Given the description of an element on the screen output the (x, y) to click on. 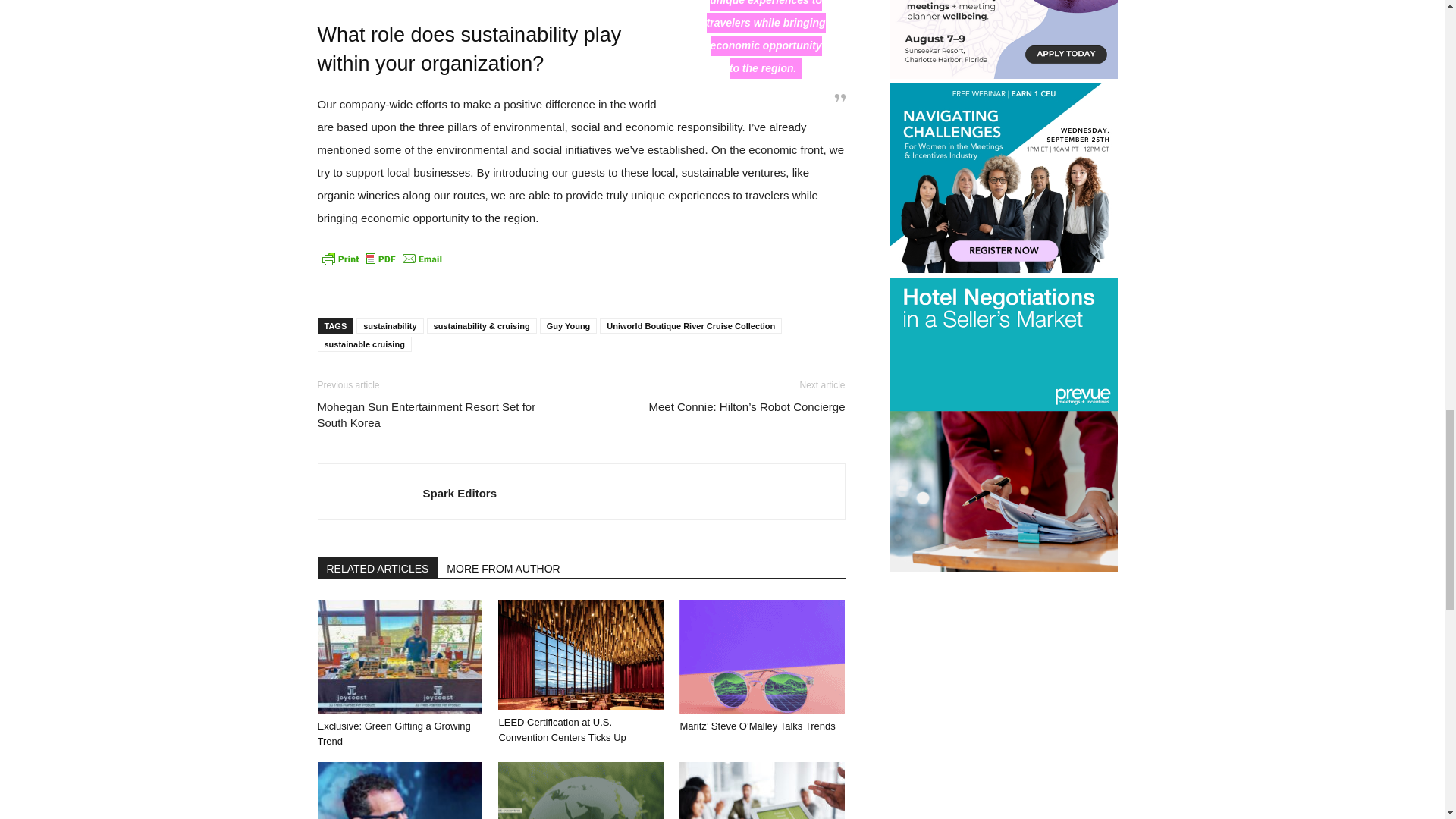
Exclusive: Green Gifting a Growing Trend (393, 733)
Exclusive: Green Gifting a Growing Trend (399, 656)
LEED Certification at U.S. Convention Centers Ticks Up (580, 654)
